Given the description of an element on the screen output the (x, y) to click on. 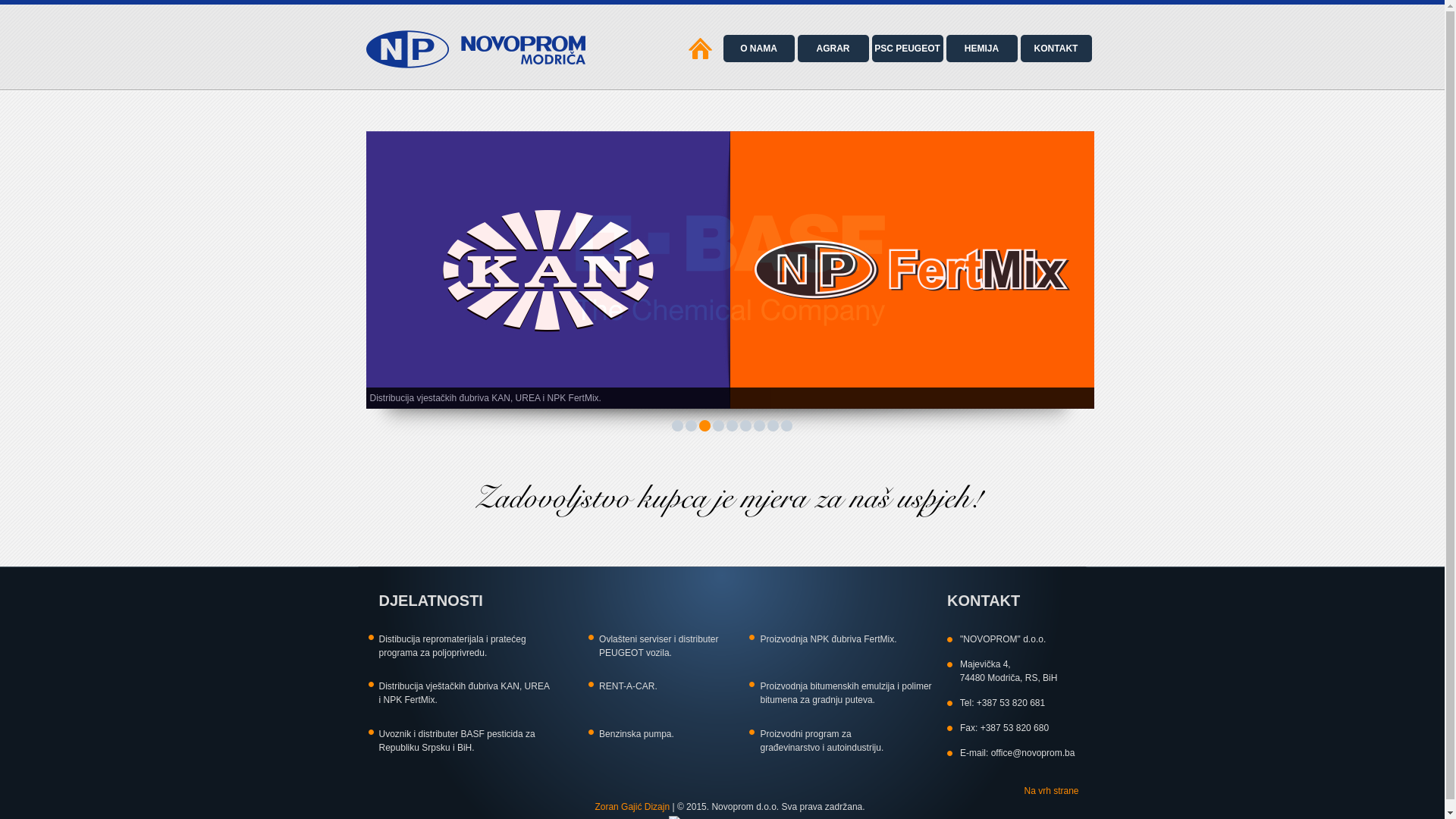
AGRAR Element type: text (832, 48)
Na vrh strane Element type: text (1050, 790)
PSC PEUGEOT Element type: text (906, 48)
KONTAKT Element type: text (1055, 48)
O NAMA Element type: text (758, 48)
HEMIJA Element type: text (981, 48)
